Given the description of an element on the screen output the (x, y) to click on. 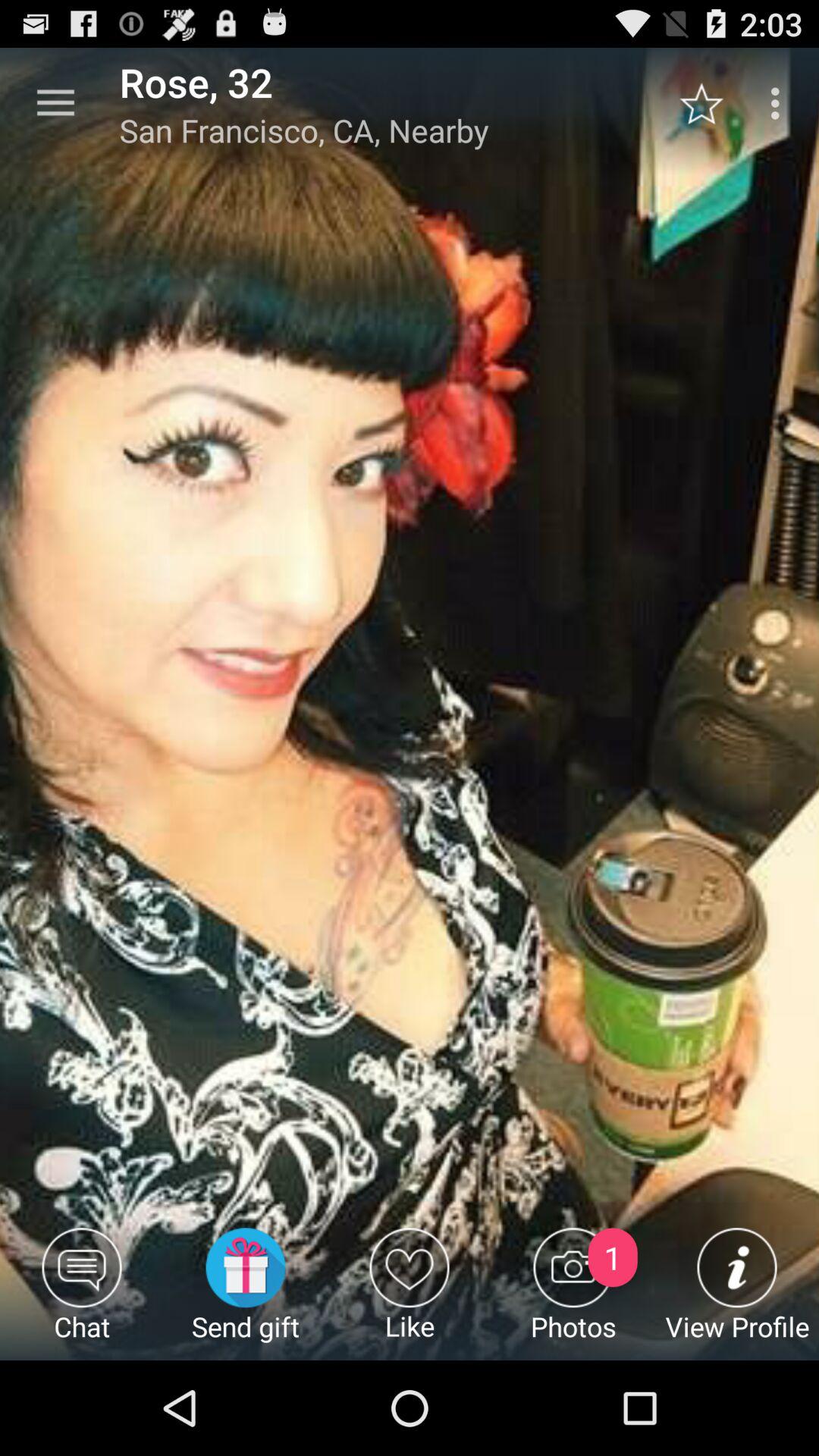
turn on item next to the photos (409, 1293)
